Given the description of an element on the screen output the (x, y) to click on. 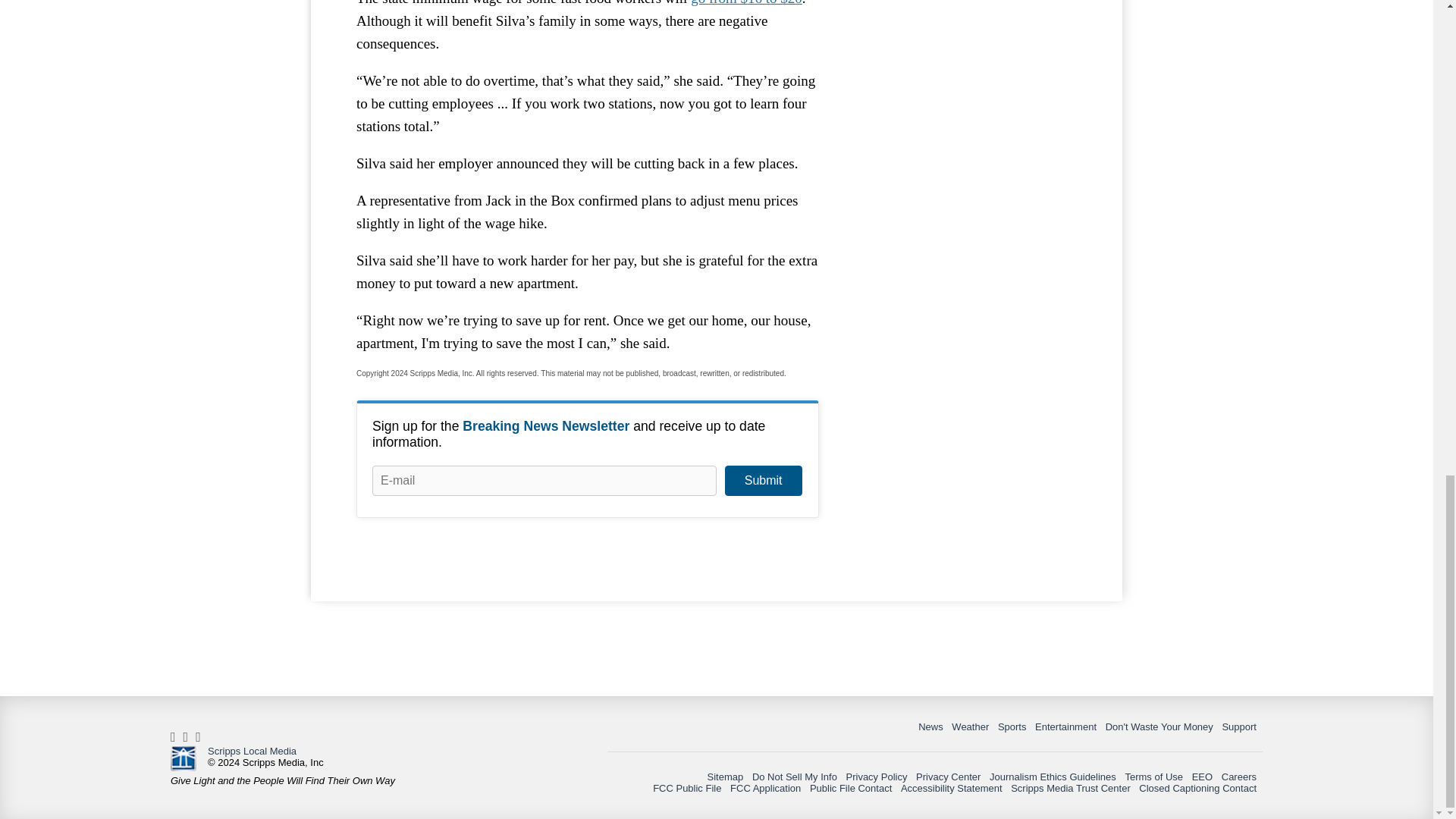
Submit (763, 481)
